Given the description of an element on the screen output the (x, y) to click on. 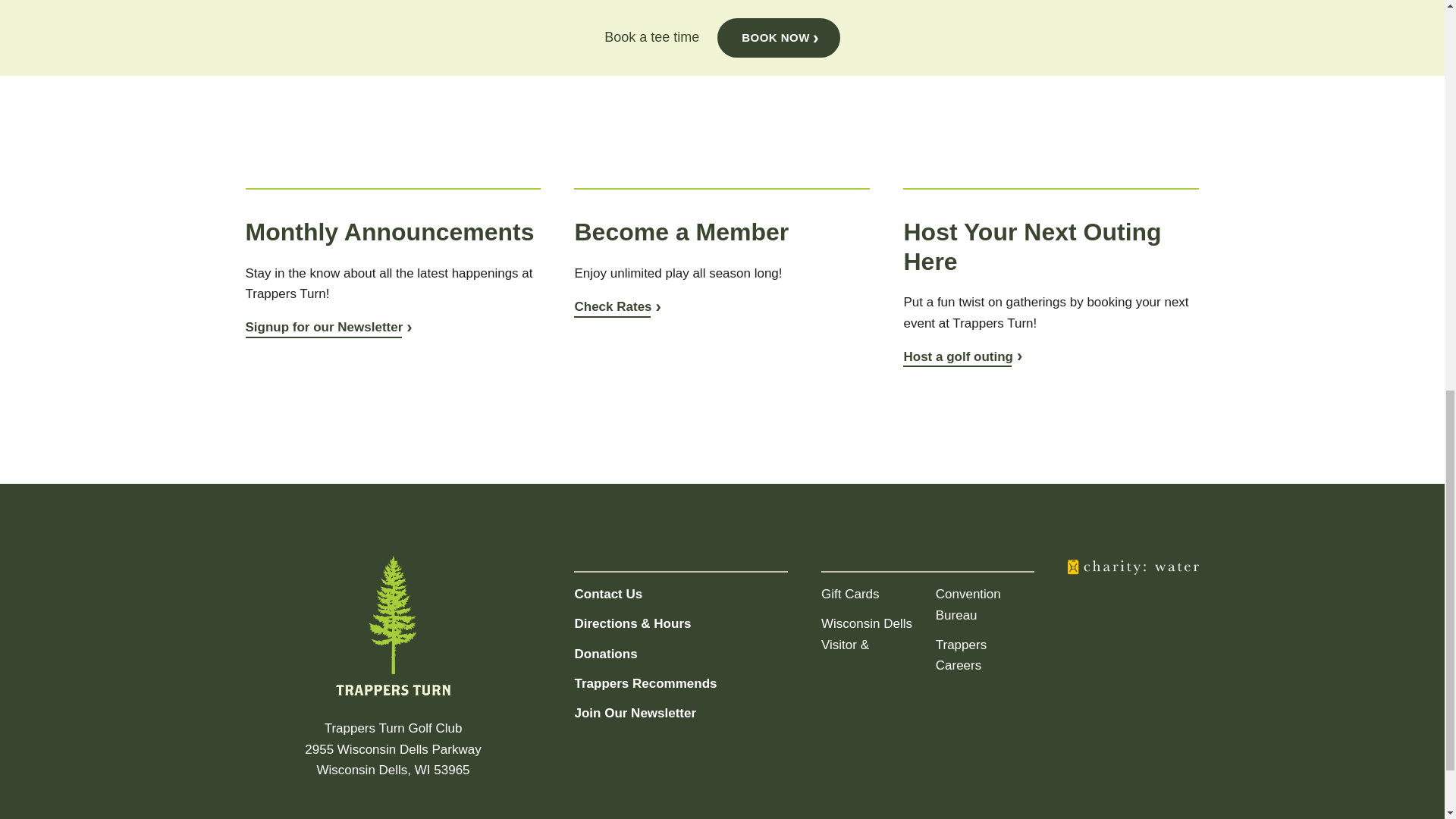
Become a Member (617, 306)
Golf Outings (962, 356)
Signup for our Newsletter (329, 327)
